Given the description of an element on the screen output the (x, y) to click on. 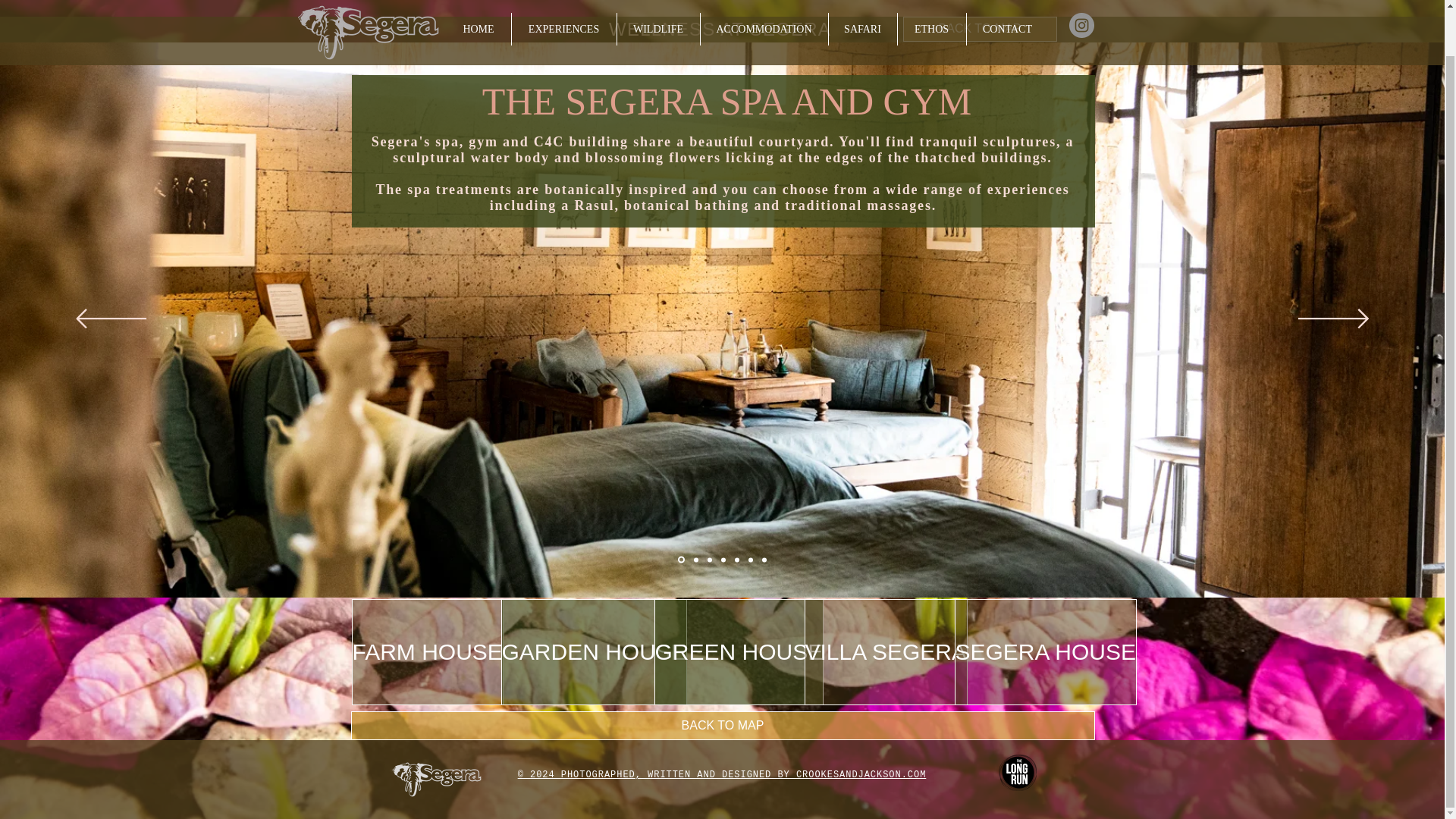
SEGERA HOUSE (1044, 651)
GARDEN HOUSE (592, 651)
BACK TO MAP (979, 28)
BACK TO MAP (722, 725)
GREEN HOUSE (738, 651)
VILLA SEGERA (884, 651)
FARM HOUSE (427, 651)
